Given the description of an element on the screen output the (x, y) to click on. 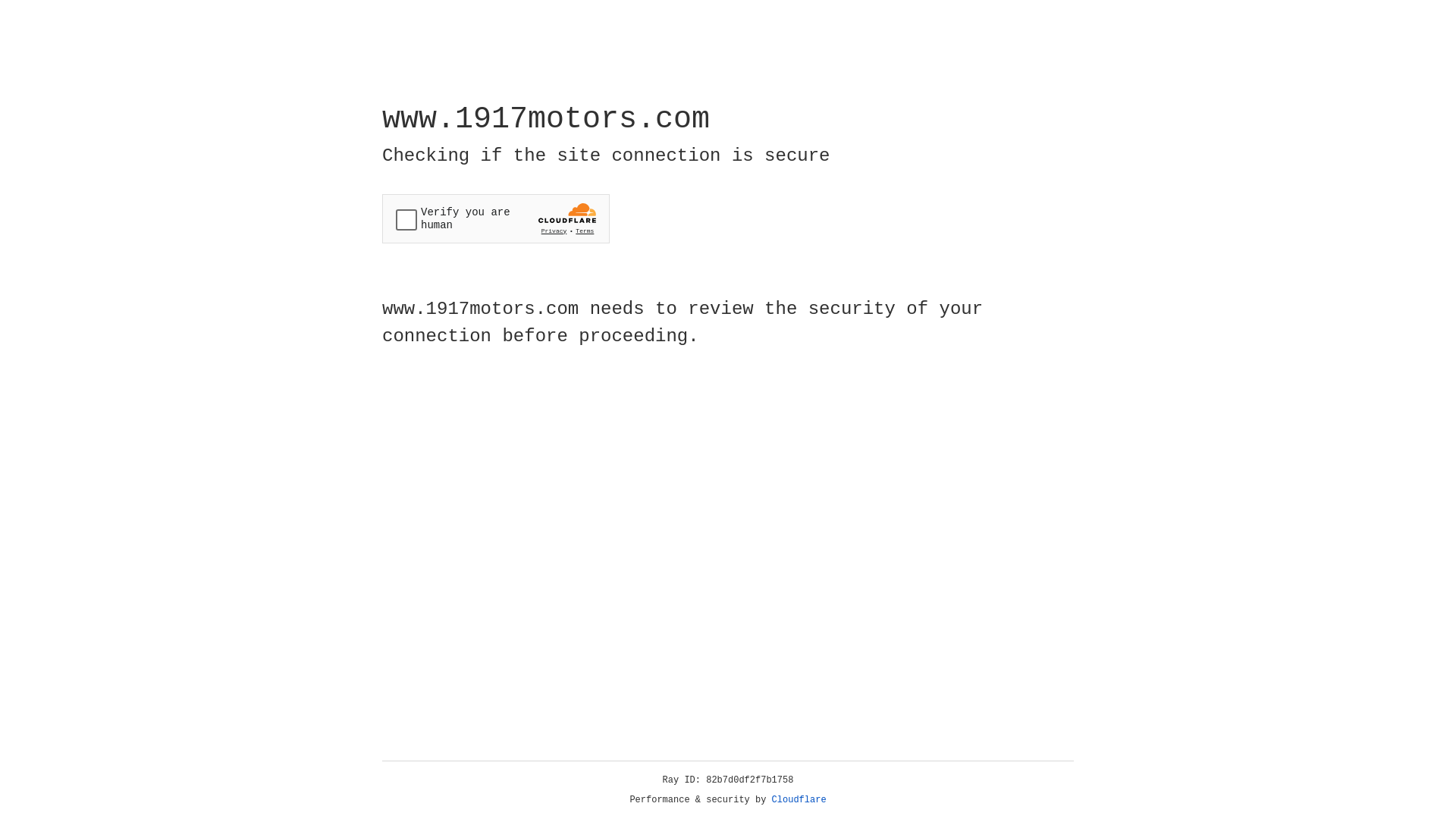
Cloudflare Element type: text (798, 799)
Widget containing a Cloudflare security challenge Element type: hover (495, 218)
